Given the description of an element on the screen output the (x, y) to click on. 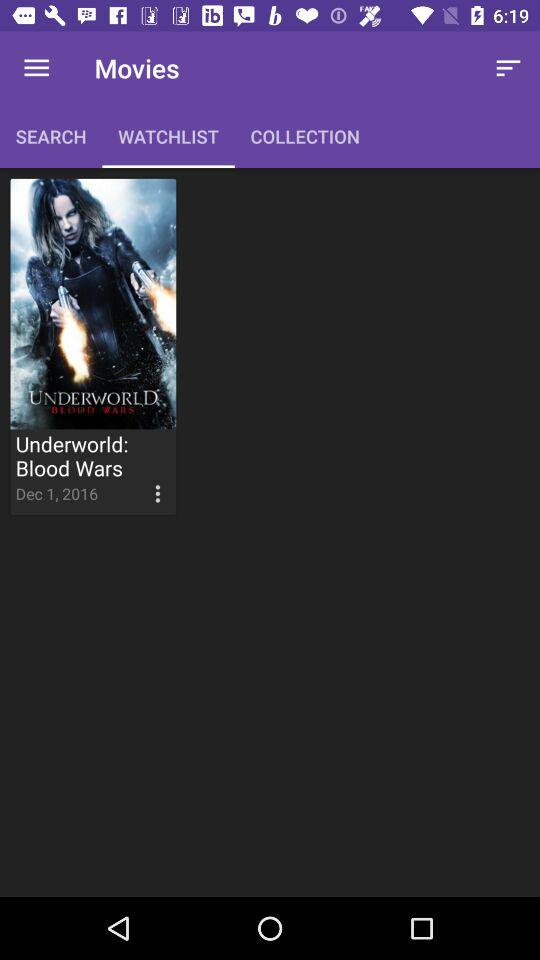
tap icon at the top right corner (508, 67)
